Given the description of an element on the screen output the (x, y) to click on. 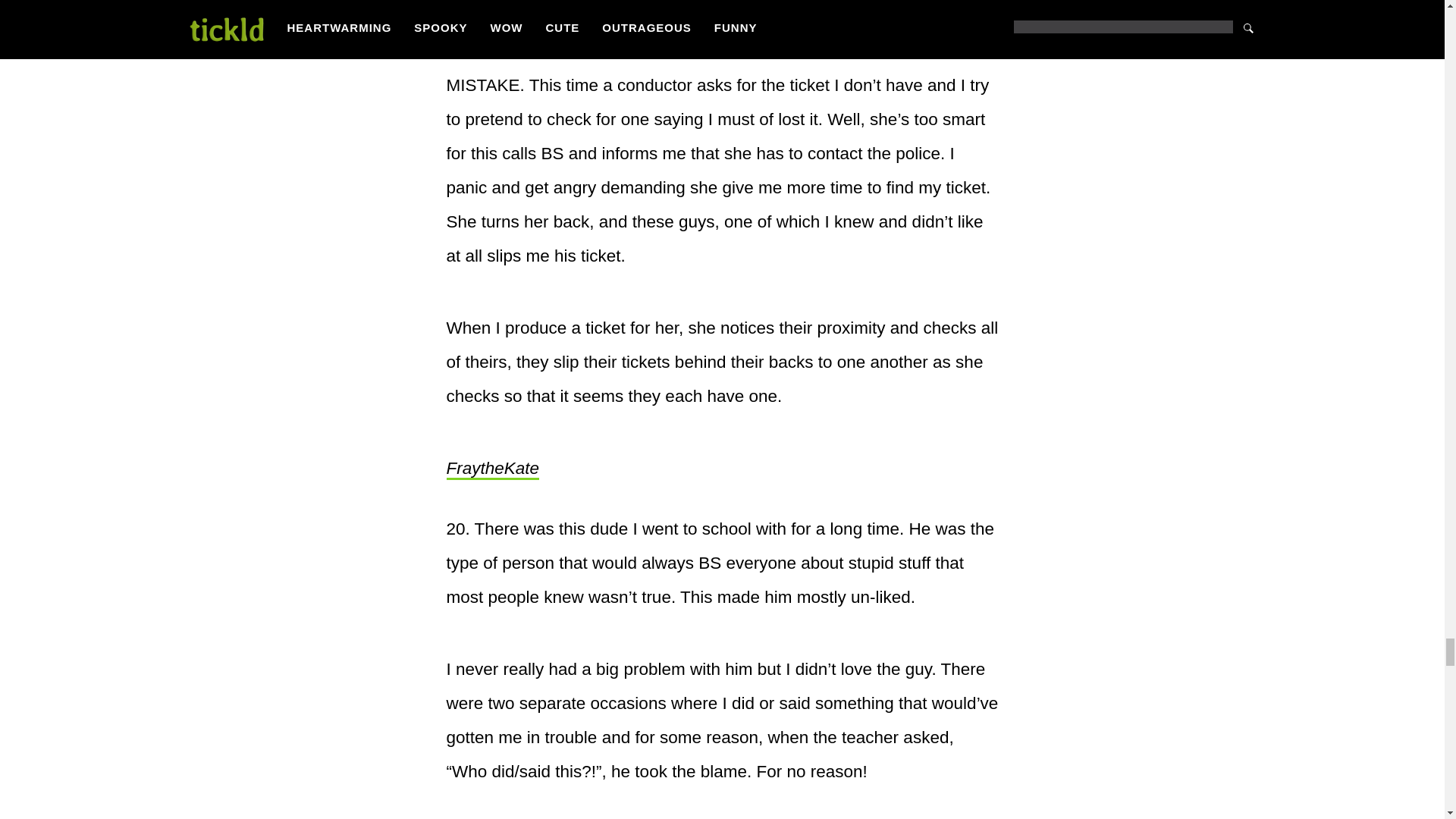
FraytheKate (491, 468)
